Given the description of an element on the screen output the (x, y) to click on. 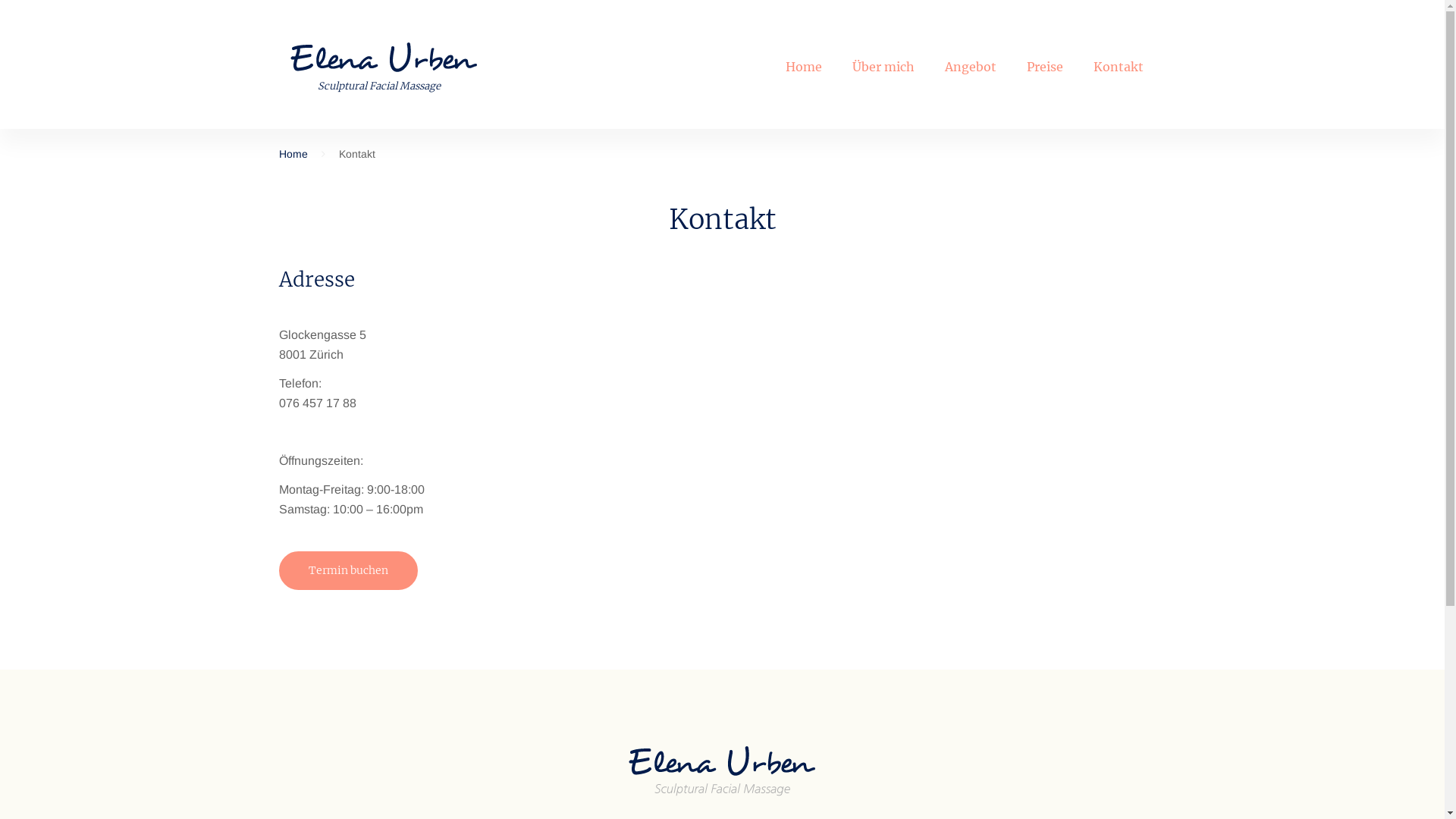
Home Element type: text (803, 66)
Termin buchen Element type: text (348, 570)
Home Element type: text (293, 153)
Angebot Element type: text (970, 66)
Kontakt Element type: text (1118, 66)
Preise Element type: text (1044, 66)
